Given the description of an element on the screen output the (x, y) to click on. 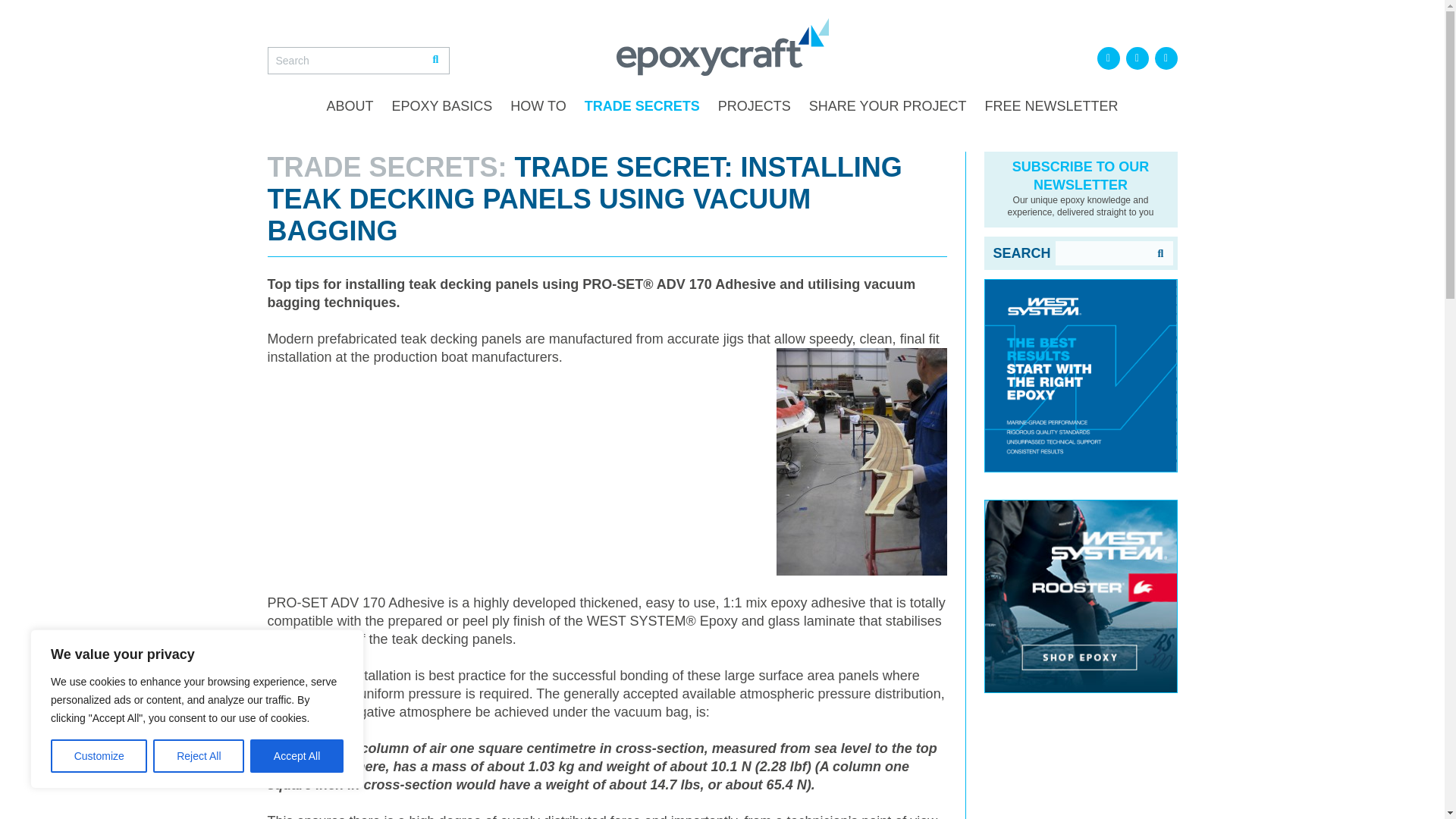
Accept All (296, 756)
SHARE YOUR PROJECT (887, 105)
PROJECTS (754, 105)
TRADE SECRETS (642, 105)
EPOXY BASICS (442, 105)
HOW TO (537, 105)
Reject All (198, 756)
FREE NEWSLETTER (1050, 105)
ABOUT (349, 105)
Customize (98, 756)
